Given the description of an element on the screen output the (x, y) to click on. 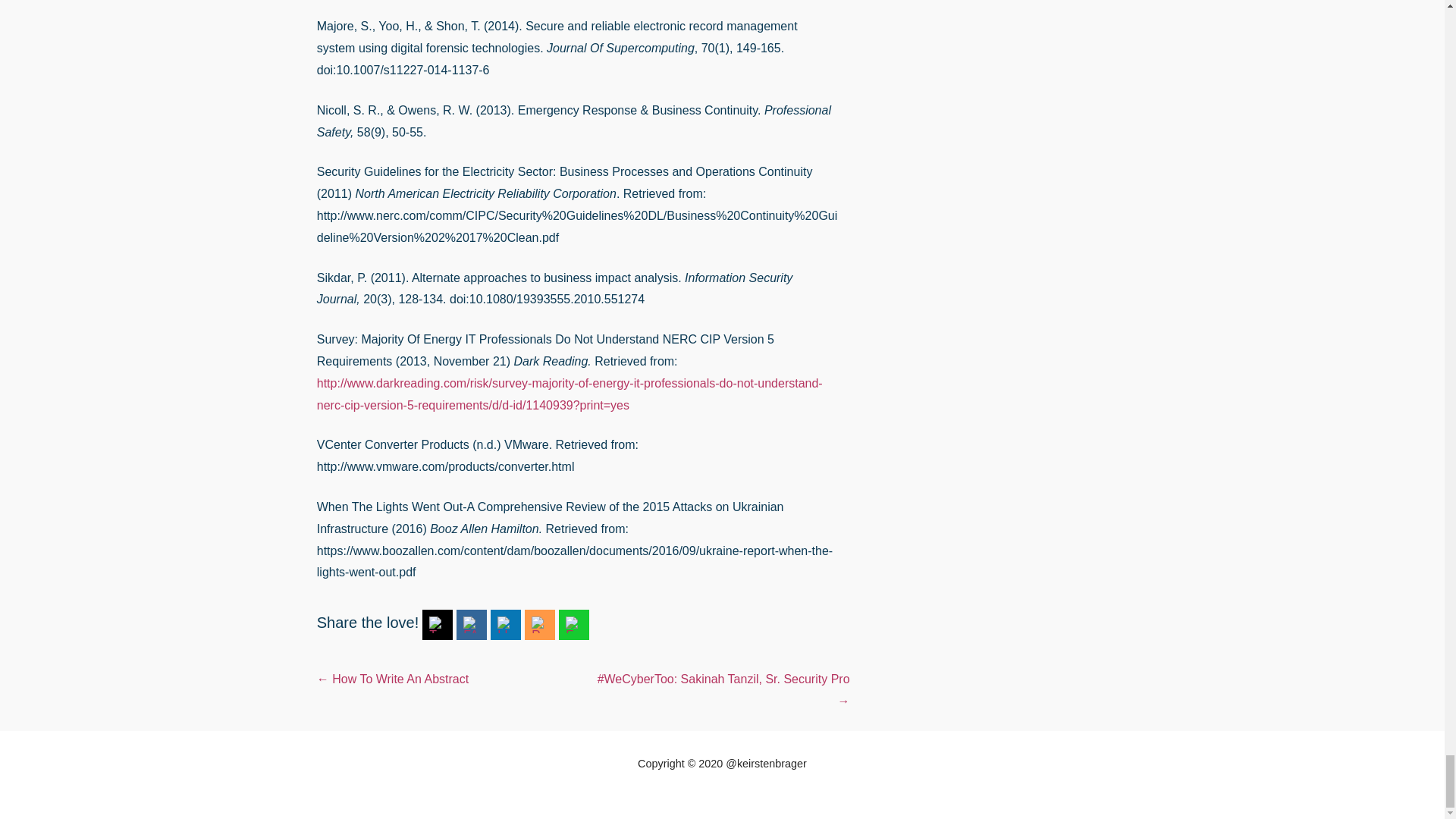
EMAIL (574, 624)
FACEBOOK (471, 624)
RSS (539, 624)
TWITTER (437, 624)
LINKEDIN (505, 624)
